Given the description of an element on the screen output the (x, y) to click on. 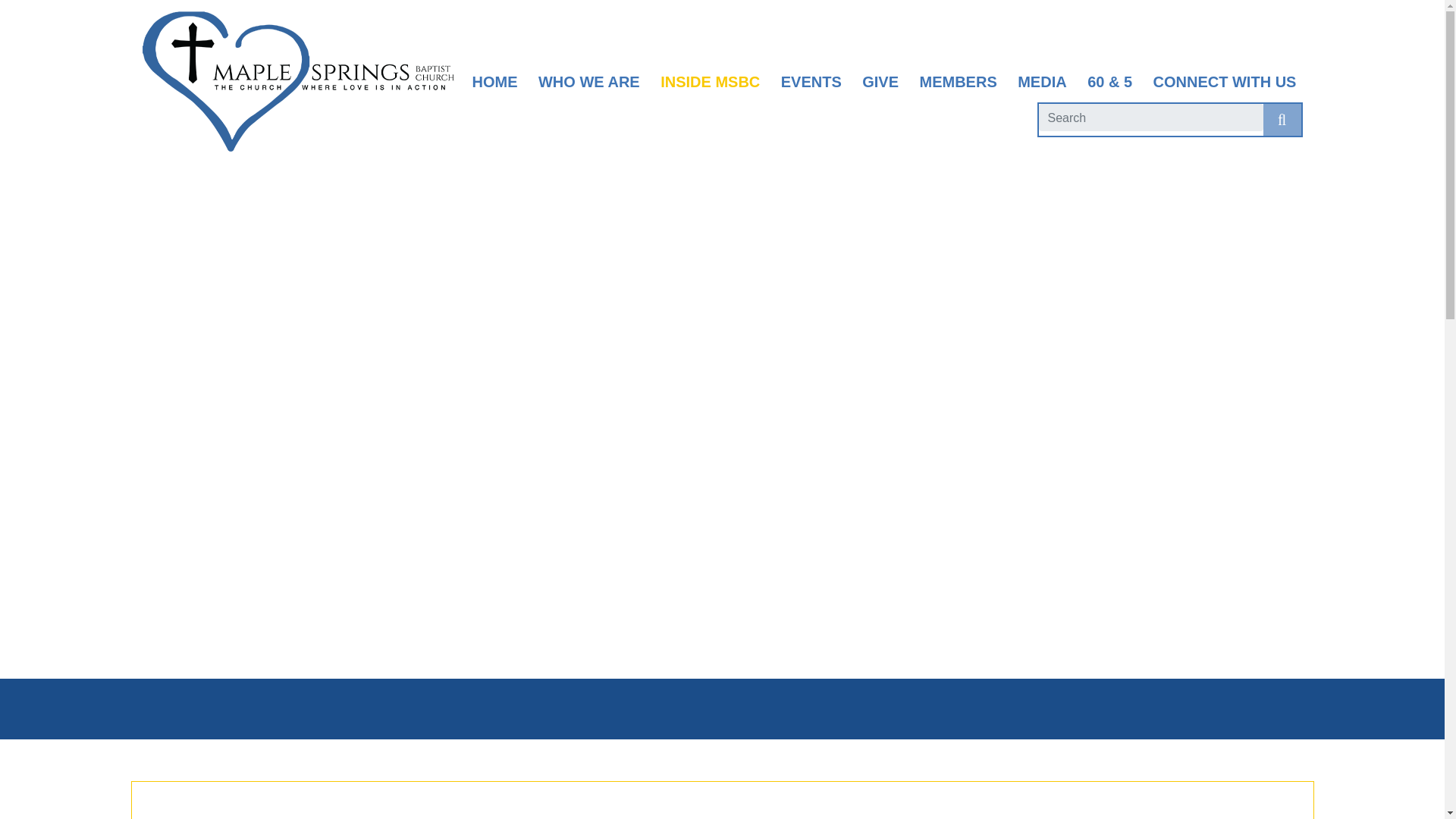
MEMBERS (957, 81)
CONNECT WITH US (1225, 81)
GIVE (880, 81)
MEDIA (1041, 81)
HOME (493, 81)
INSIDE MSBC (709, 81)
WHO WE ARE (589, 81)
EVENTS (810, 81)
